Given the description of an element on the screen output the (x, y) to click on. 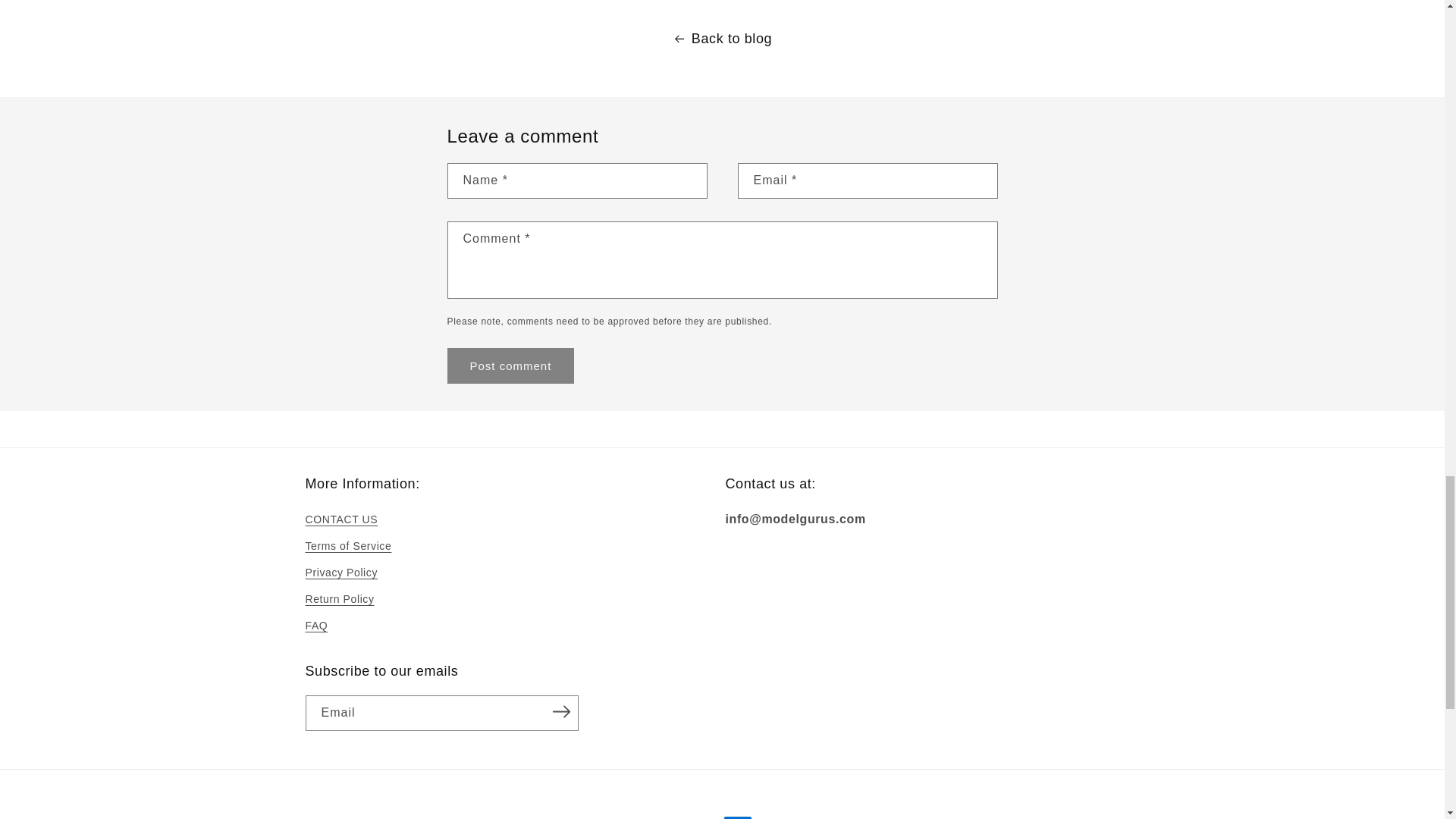
Privacy Policy (340, 572)
Post comment (510, 366)
CONTACT US (340, 521)
Post comment (510, 366)
Return Policy (339, 599)
American Express (737, 817)
Terms of Service (347, 546)
